Given the description of an element on the screen output the (x, y) to click on. 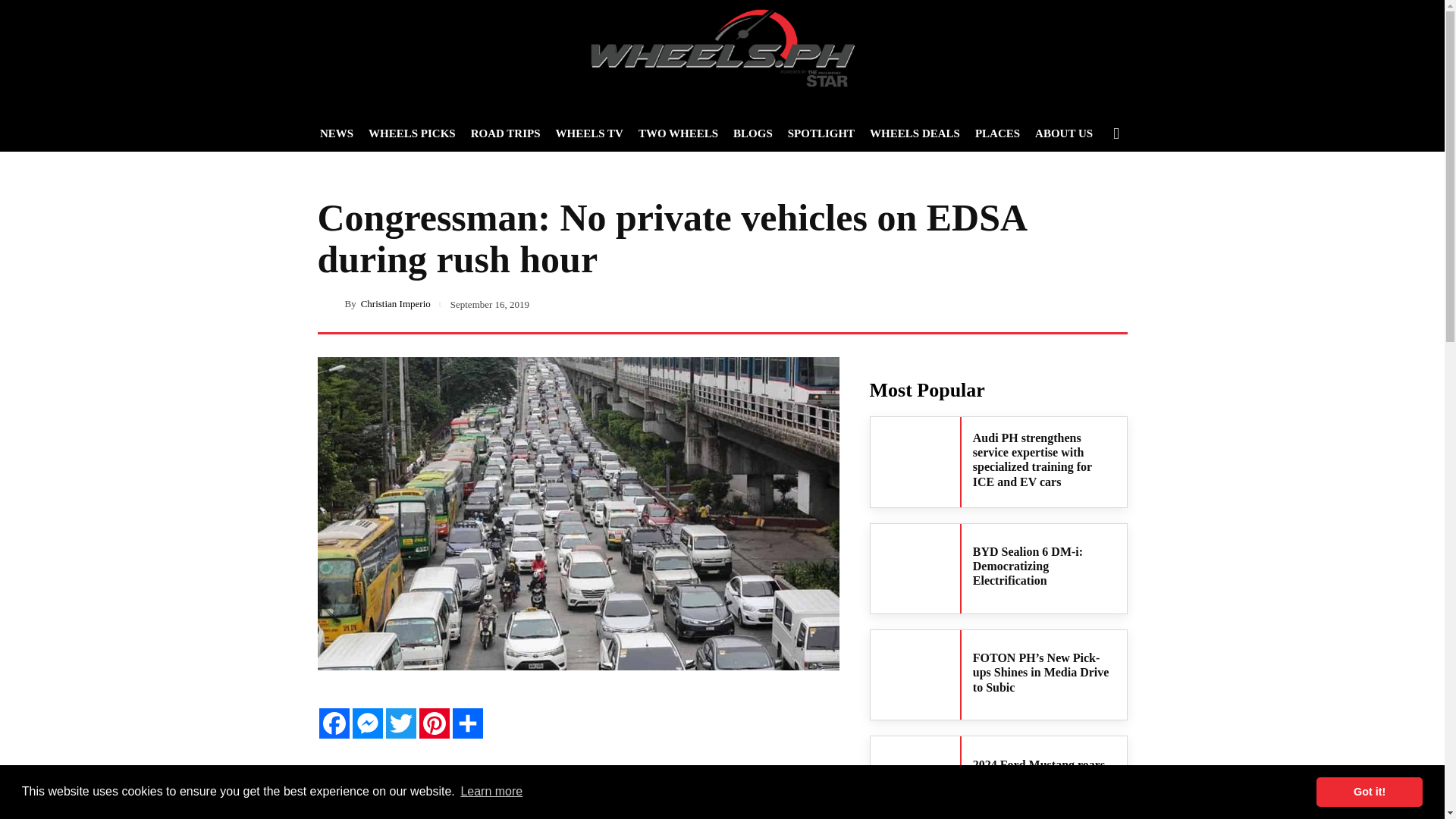
BYD Sealion 6 DM-i: Democratizing Electrification (914, 568)
TWO WHEELS (677, 133)
Christian Imperio (330, 302)
SPOTLIGHT (820, 133)
ABOUT US (1063, 133)
Christian Imperio (395, 303)
BYD Sealion 6 DM-i: Democratizing Electrification (1027, 566)
Got it! (1369, 791)
NEWS (337, 133)
